Given the description of an element on the screen output the (x, y) to click on. 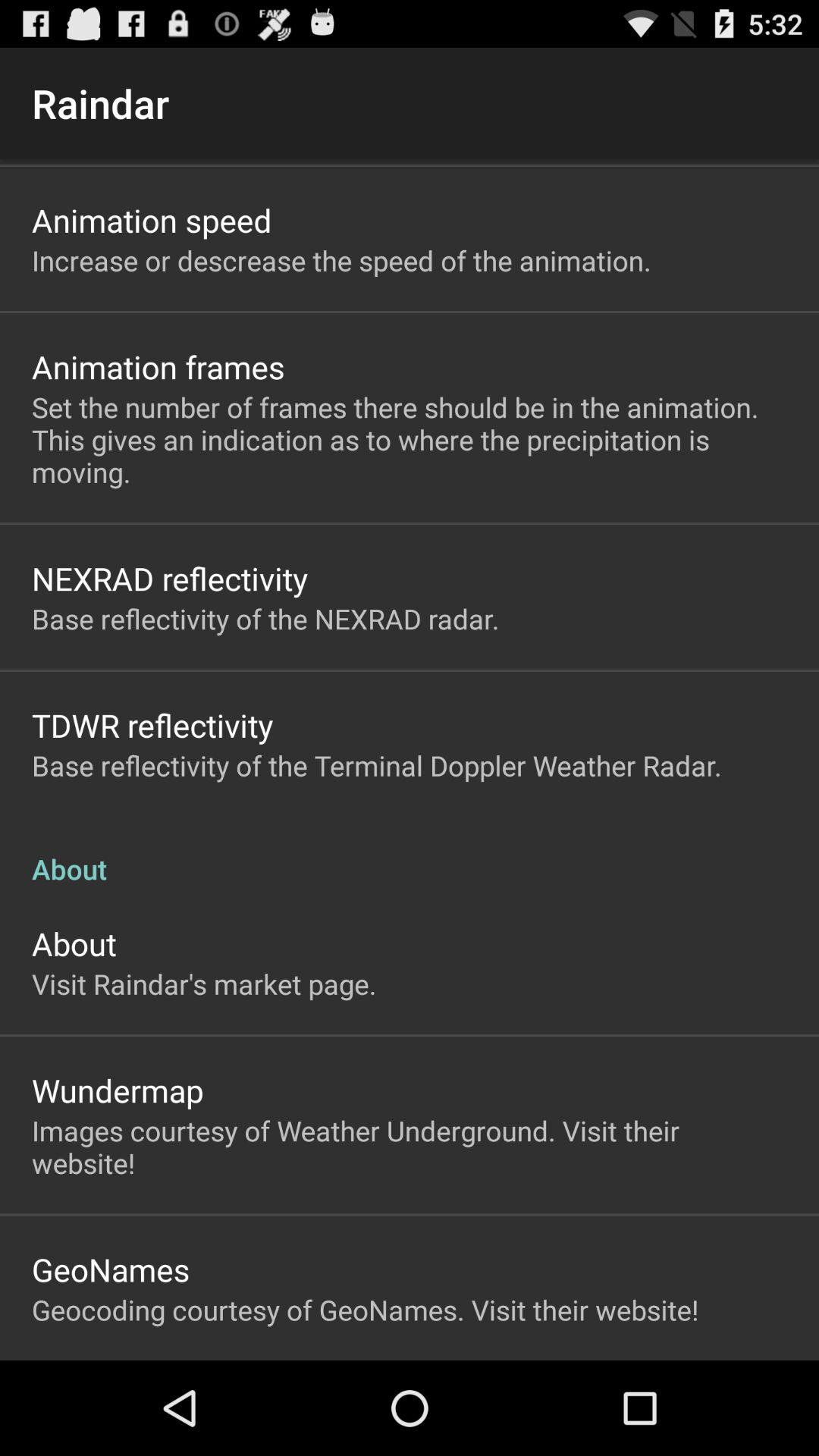
scroll to tdwr reflectivity icon (152, 724)
